Given the description of an element on the screen output the (x, y) to click on. 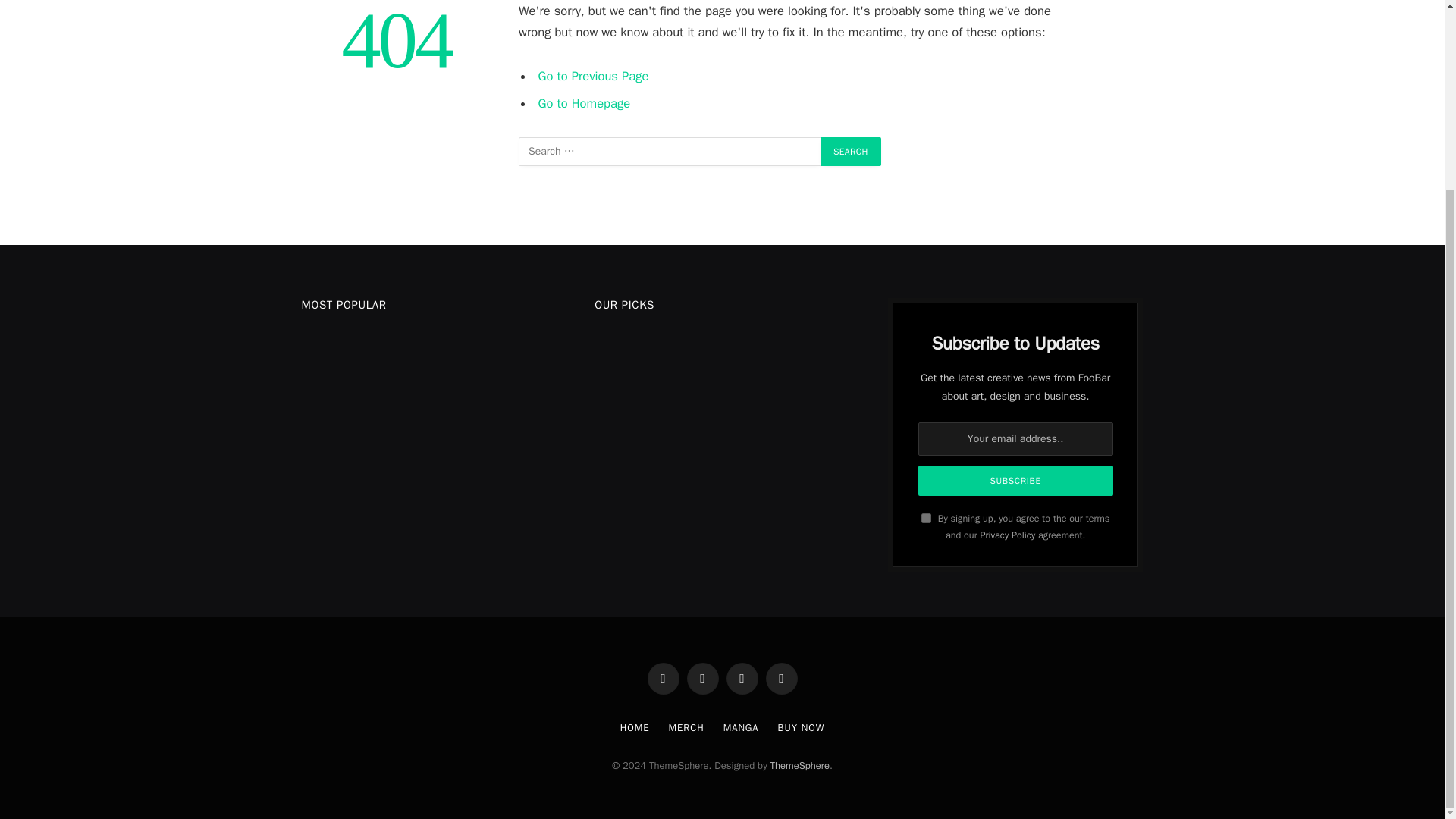
Search (850, 151)
Privacy Policy (1007, 535)
Facebook (663, 678)
HOME (634, 727)
Subscribe (1015, 481)
Go to Homepage (584, 103)
Search (850, 151)
MERCH (685, 727)
Pinterest (781, 678)
Subscribe (1015, 481)
Go to Previous Page (593, 75)
Search (850, 151)
on (926, 518)
Instagram (742, 678)
